Given the description of an element on the screen output the (x, y) to click on. 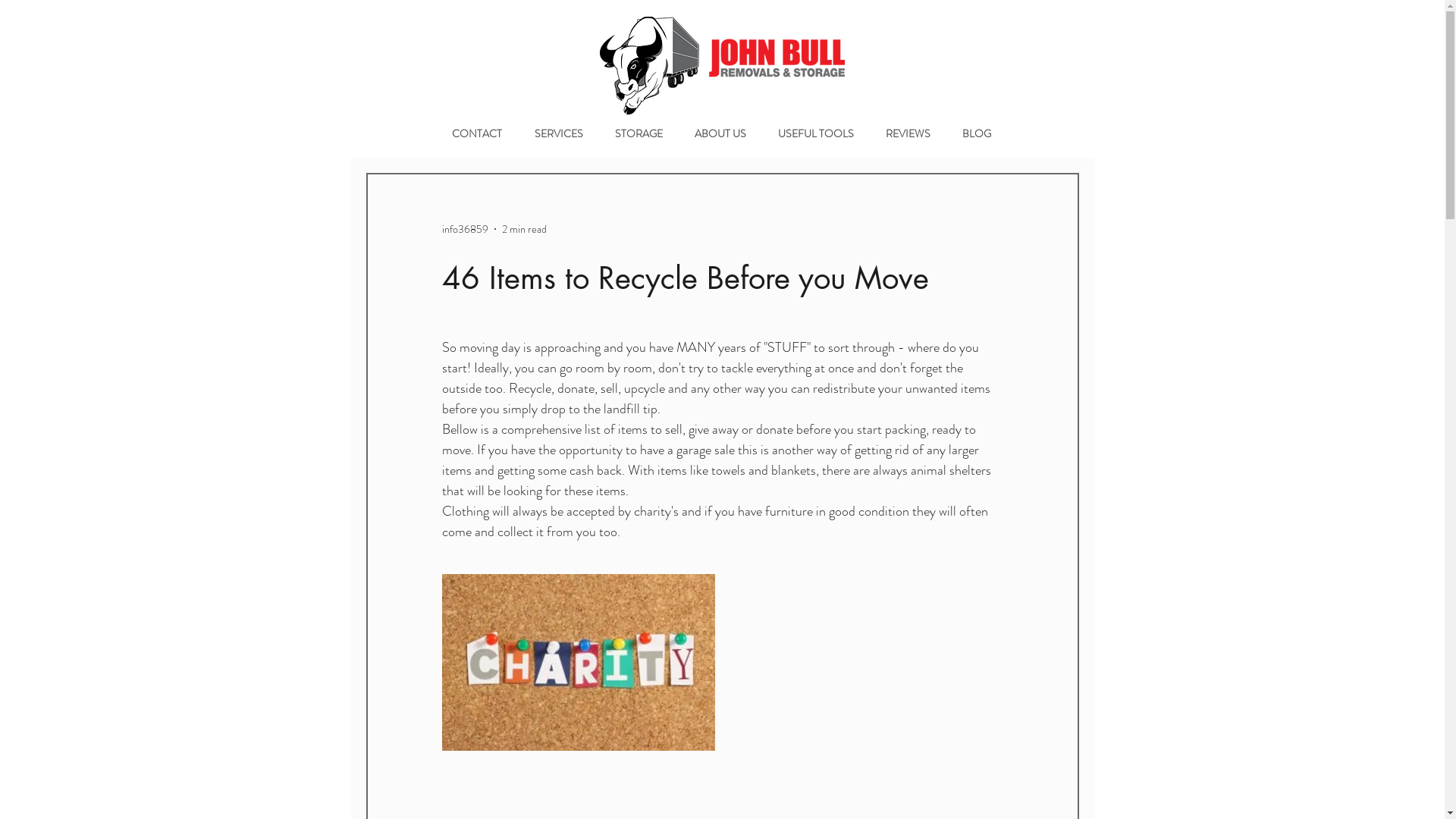
ABOUT US Element type: text (723, 133)
BLOG Element type: text (980, 133)
info36859 Element type: text (464, 229)
STORAGE Element type: text (643, 133)
CONTACT Element type: text (480, 133)
SERVICES Element type: text (563, 133)
REVIEWS Element type: text (911, 133)
USEFUL TOOLS Element type: text (819, 133)
